Given the description of an element on the screen output the (x, y) to click on. 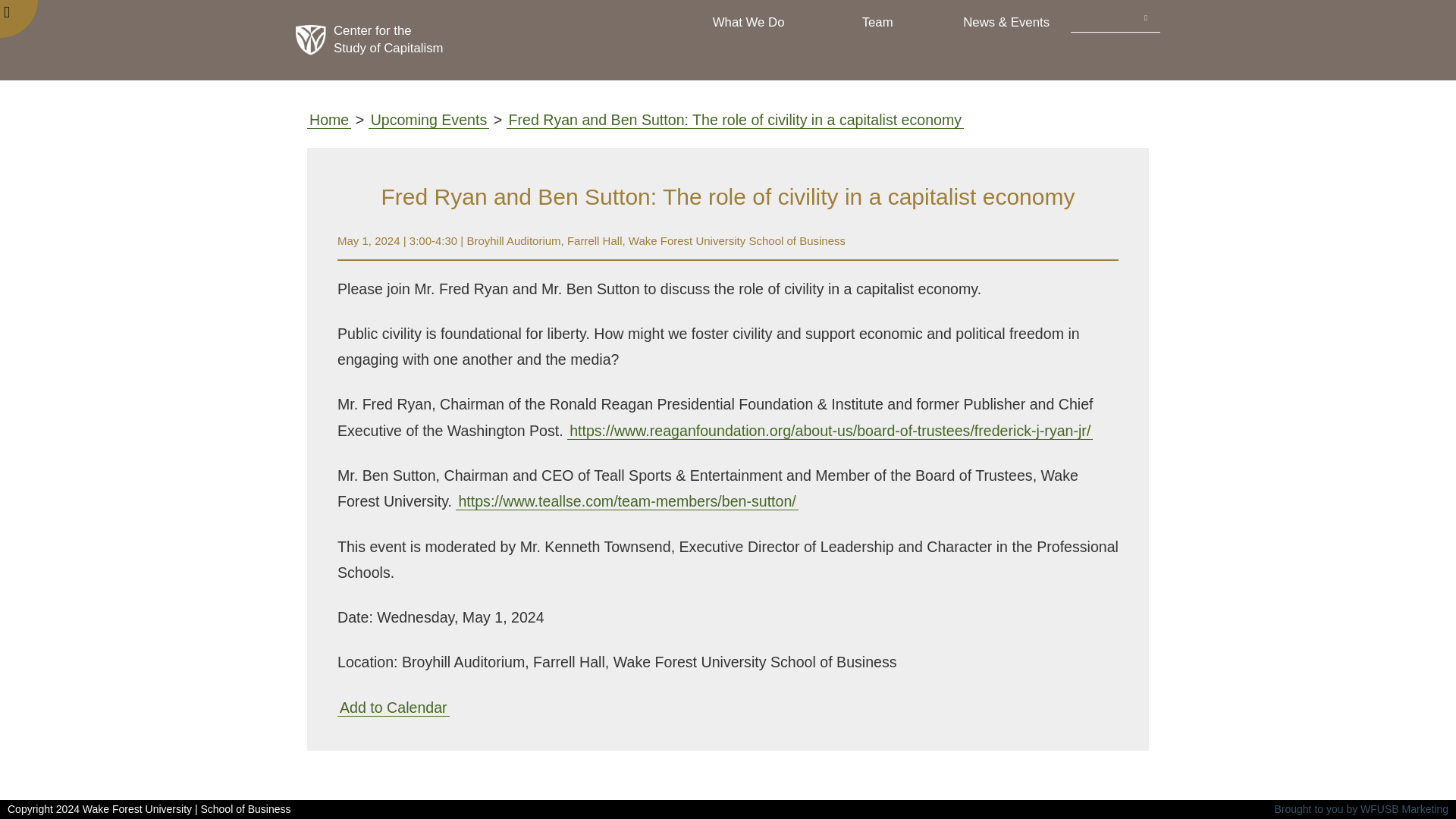
What We Do (748, 22)
Go to Center for the Study of Capitalism. (328, 119)
Home (328, 119)
Upcoming Events (428, 119)
Go to Upcoming Events. (428, 119)
Team (877, 22)
Add to Calendar (393, 707)
